Given the description of an element on the screen output the (x, y) to click on. 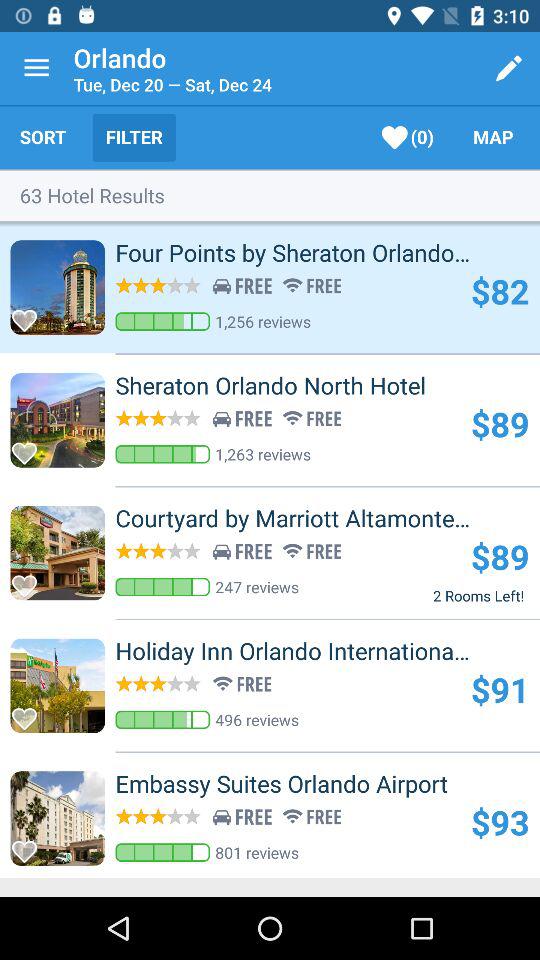
mark as favorite (30, 845)
